Given the description of an element on the screen output the (x, y) to click on. 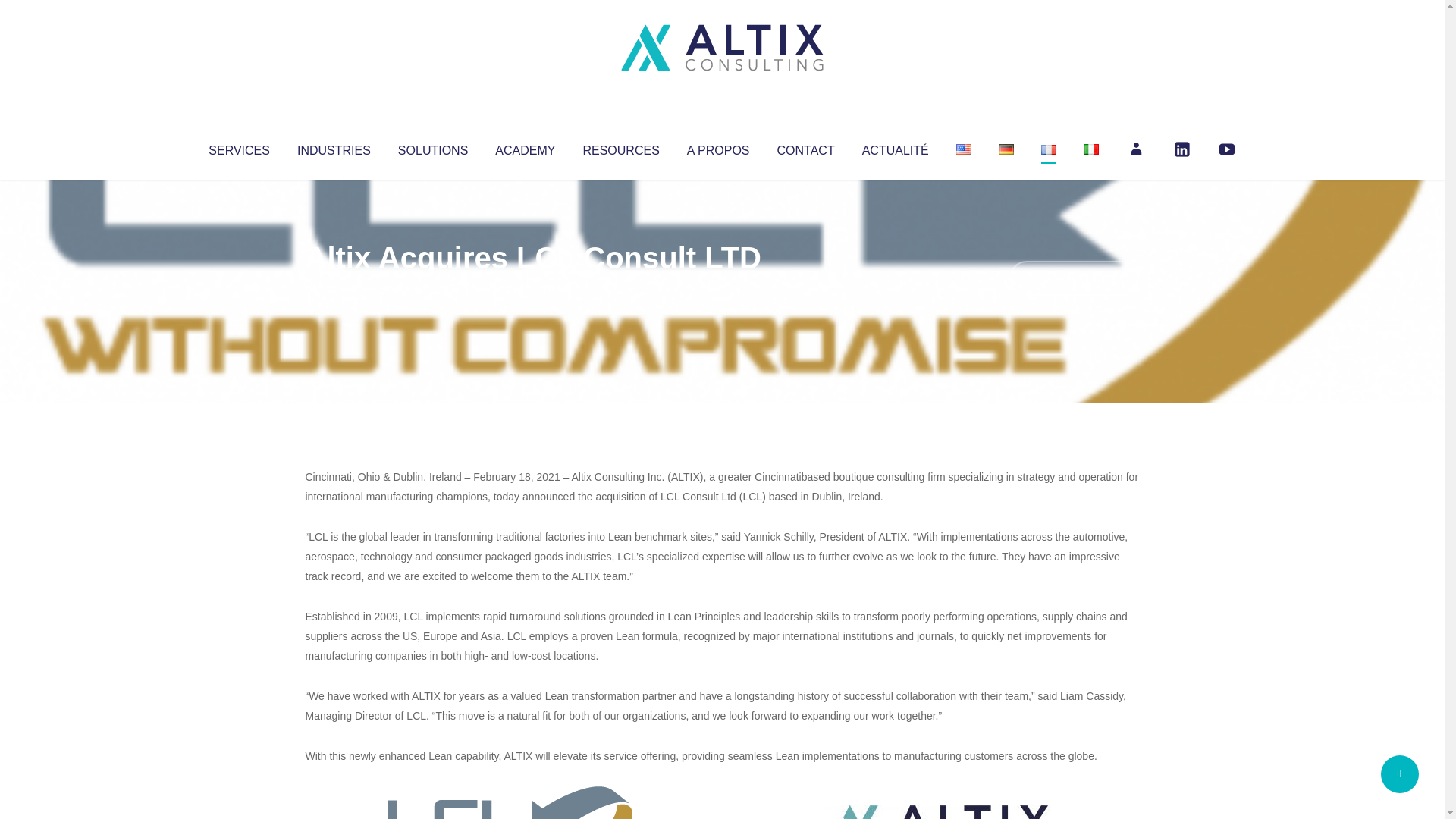
Uncategorized (530, 287)
INDUSTRIES (334, 146)
SERVICES (238, 146)
A PROPOS (718, 146)
ACADEMY (524, 146)
Articles par Altix (333, 287)
Altix (333, 287)
SOLUTIONS (432, 146)
No Comments (1073, 278)
RESOURCES (620, 146)
